Given the description of an element on the screen output the (x, y) to click on. 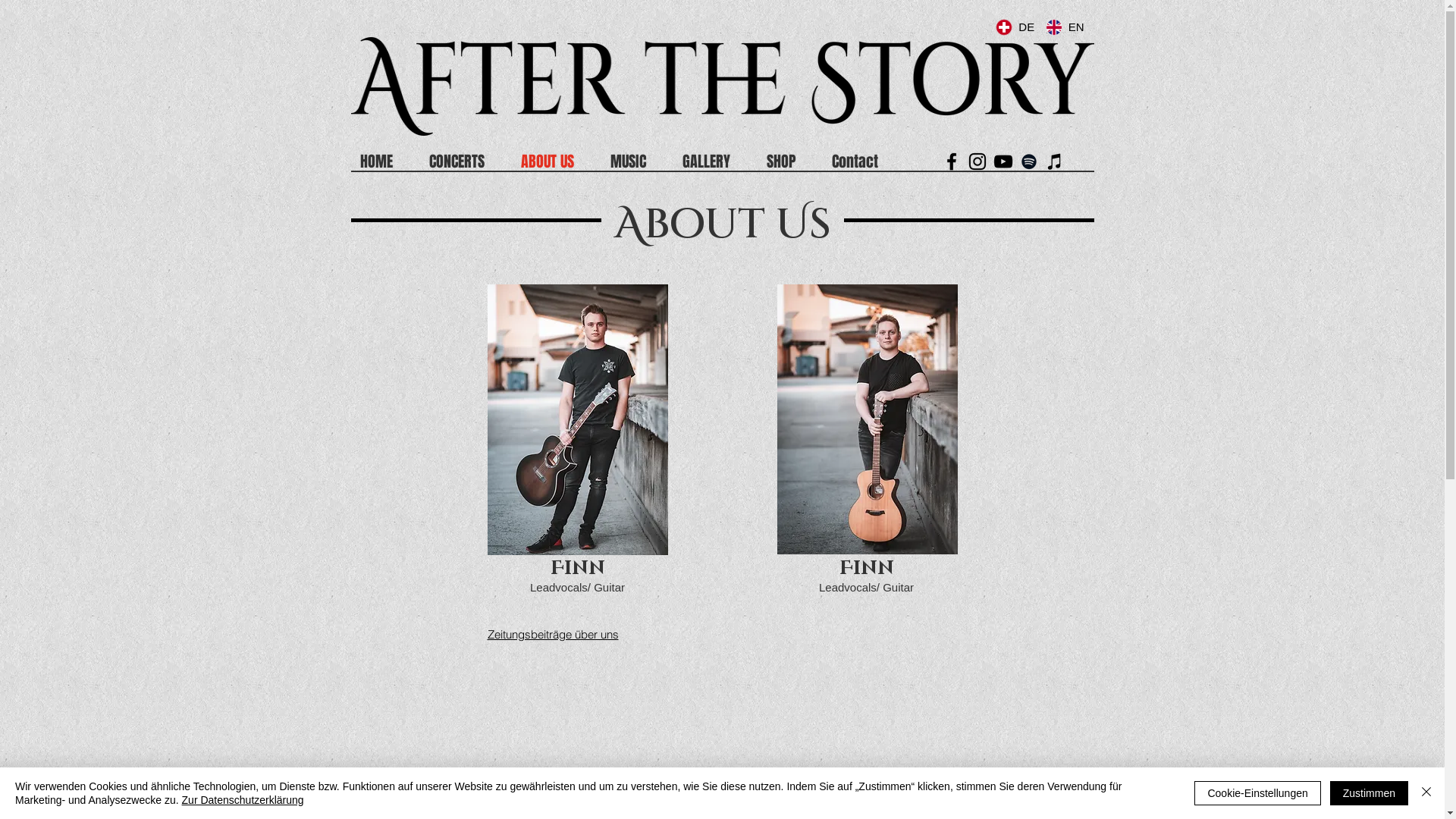
GALLERY Element type: text (715, 161)
MUSIC Element type: text (636, 161)
Cookie-Einstellungen Element type: text (1257, 793)
EN Element type: text (1064, 27)
CONCERTS Element type: text (465, 161)
SHOP Element type: text (789, 161)
DE Element type: text (1014, 27)
ABOUT US Element type: text (555, 161)
HOME Element type: text (384, 161)
Zustimmen Element type: text (1369, 793)
